Given the description of an element on the screen output the (x, y) to click on. 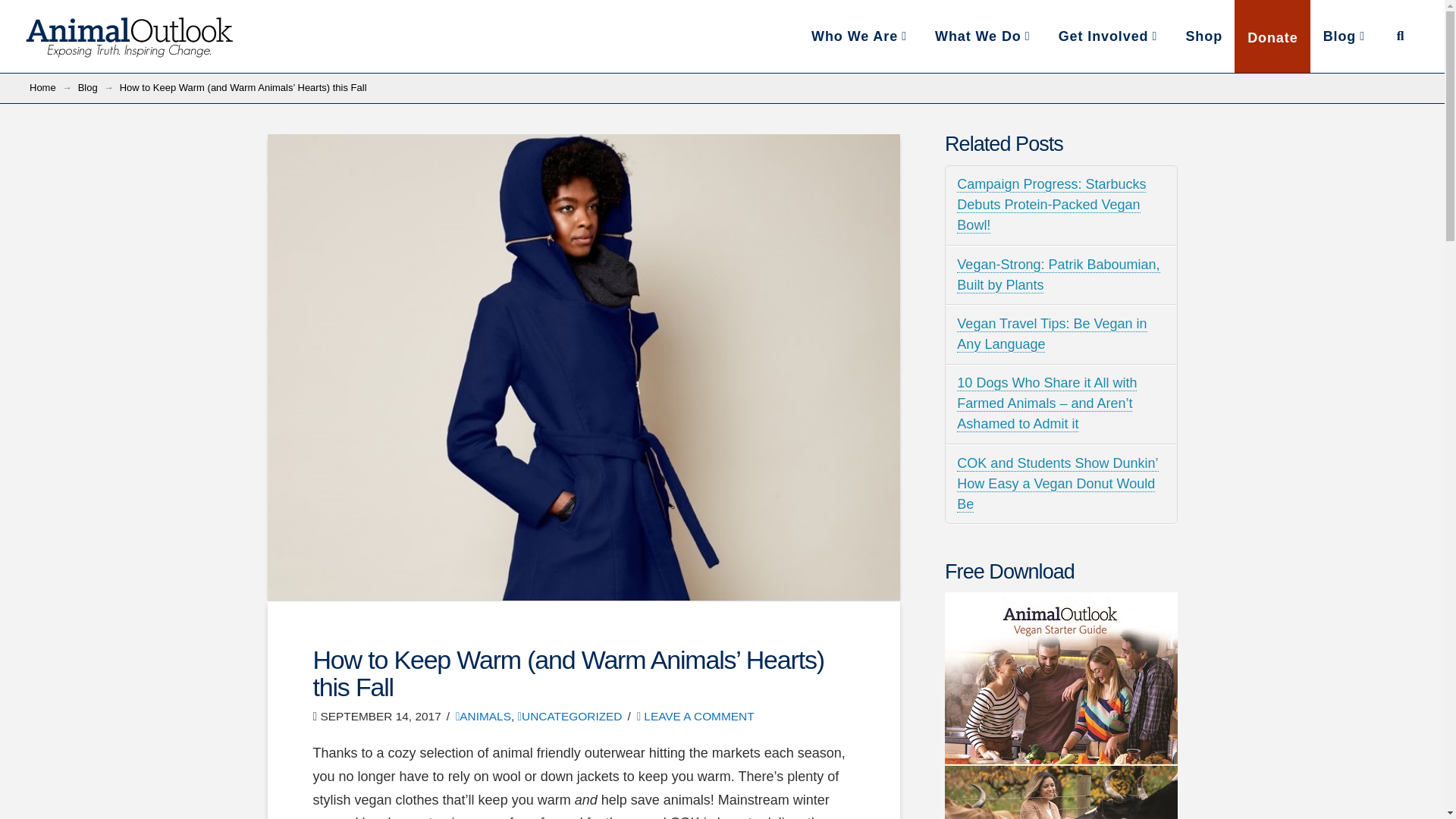
Donate (1272, 36)
LEAVE A COMMENT (695, 716)
Home (42, 88)
ANIMALS (483, 716)
Blog (87, 88)
You Are Here (242, 88)
Who We Are (859, 36)
